Given the description of an element on the screen output the (x, y) to click on. 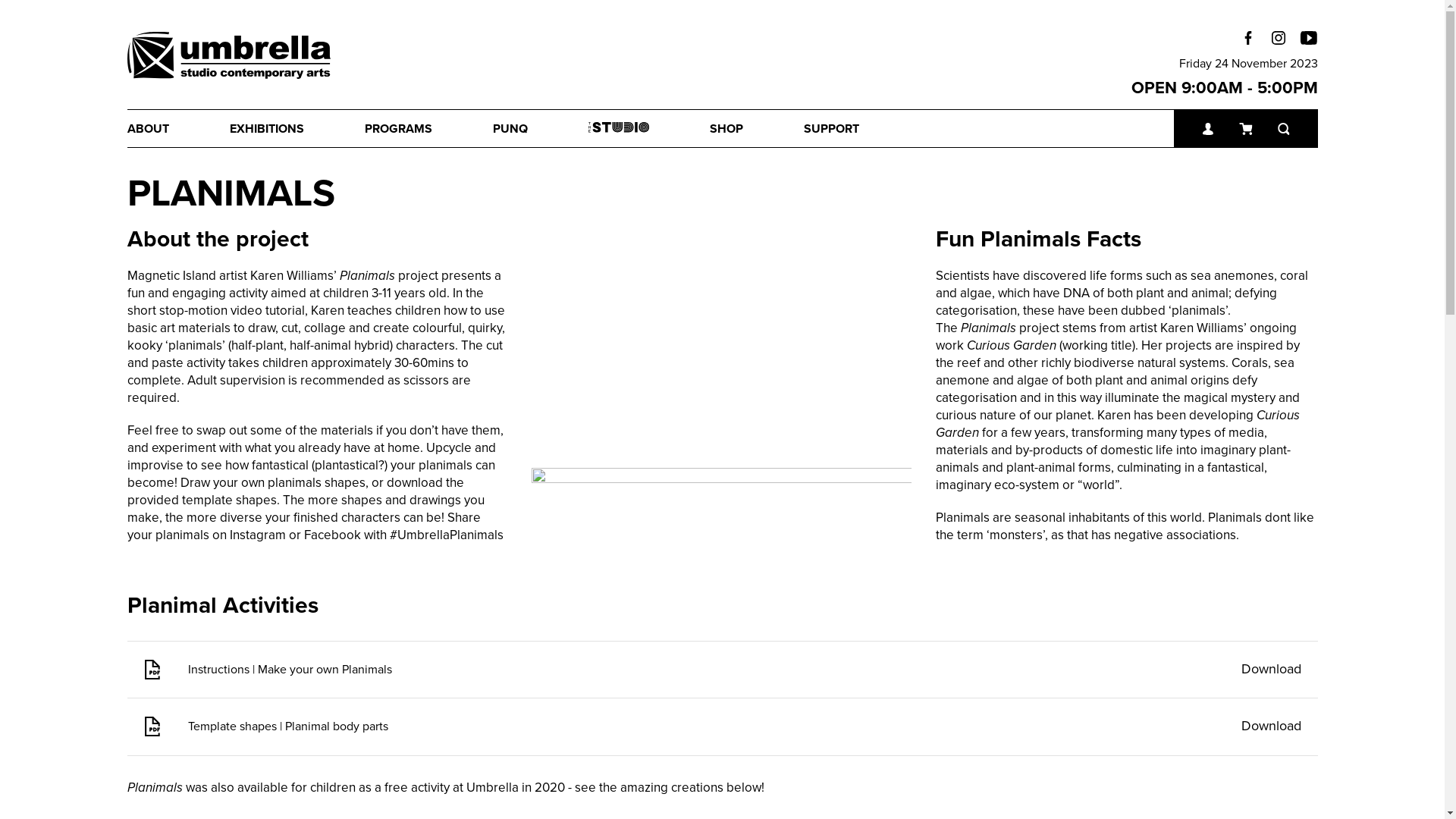
EXHIBITIONS Element type: text (296, 128)
PUNQ Element type: text (540, 128)
SUPPORT Element type: text (861, 128)
SHOP Element type: text (756, 128)
Instagram Element type: text (1278, 37)
YouTube Element type: text (1308, 37)
Instructions | Make your own Planimals
Download Element type: text (722, 669)
ABOUT Element type: text (178, 128)
Facebook Element type: text (1248, 37)
YouTube video player Element type: hover (721, 334)
THE STUDIO Element type: text (648, 128)
Template shapes | Planimal body parts
Download Element type: text (722, 726)
Search Element type: hover (707, 37)
PROGRAMS Element type: text (428, 128)
